Given the description of an element on the screen output the (x, y) to click on. 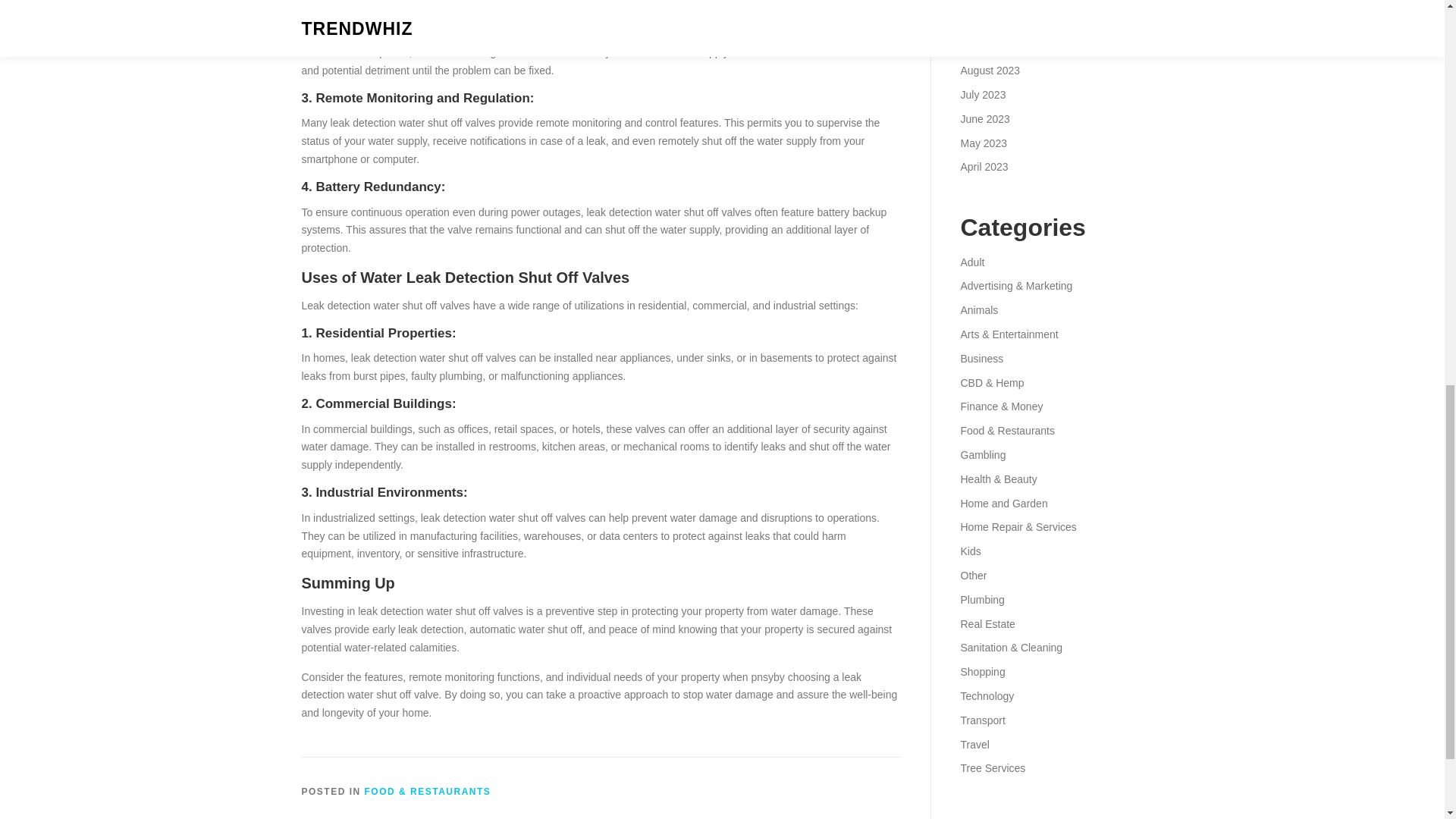
October 2023 (992, 22)
Animals (978, 309)
November 2023 (997, 2)
August 2023 (989, 70)
May 2023 (982, 143)
June 2023 (984, 119)
September 2023 (999, 46)
Business (981, 358)
April 2023 (983, 166)
Adult (971, 262)
Gambling (982, 454)
July 2023 (982, 94)
